Given the description of an element on the screen output the (x, y) to click on. 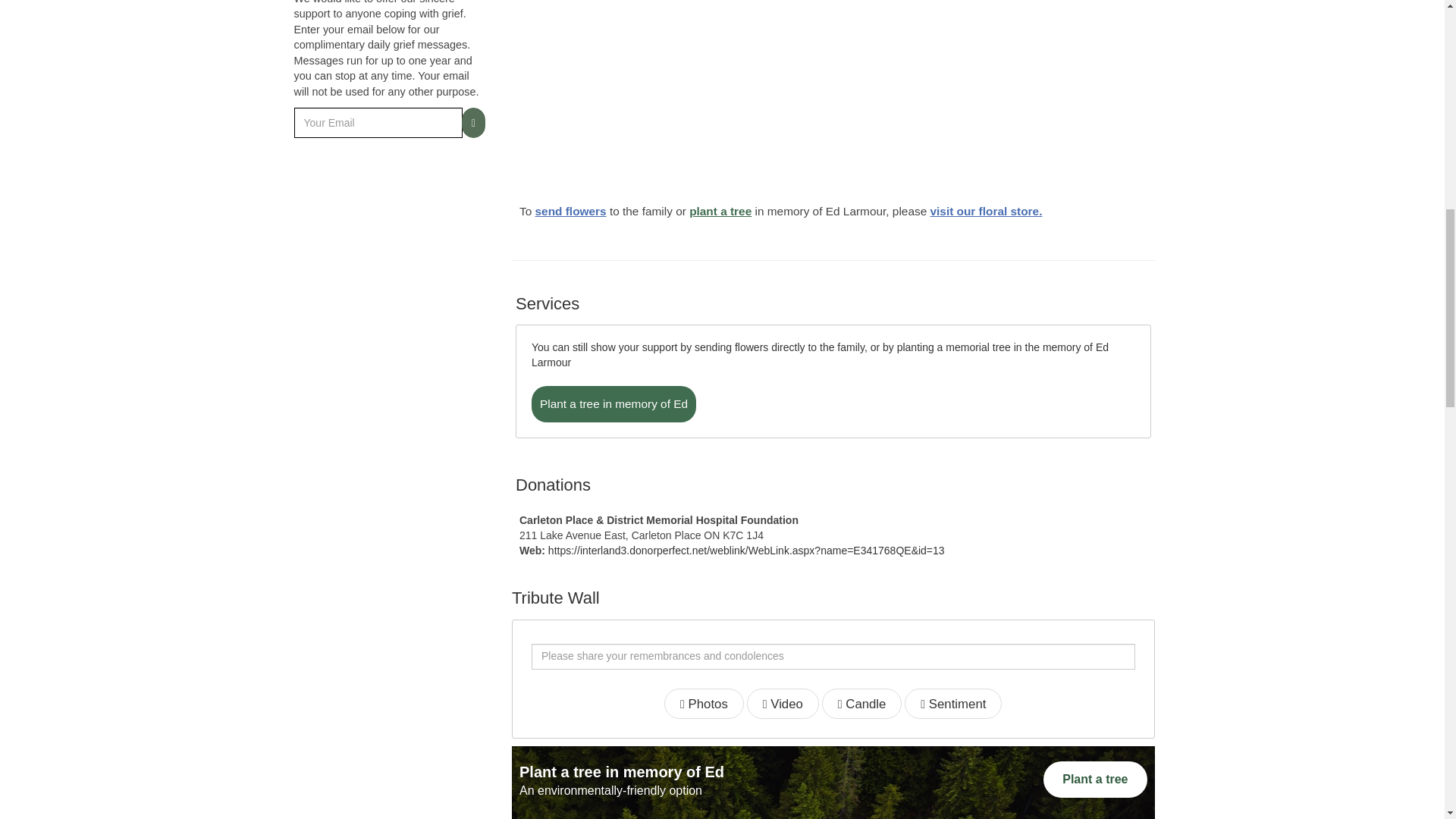
Plant a tree (1095, 779)
Plant a tree in memory of Ed (613, 403)
plant a tree (719, 210)
send flowers (571, 210)
Plant a tree (1095, 779)
visit our floral store. (986, 210)
